Given the description of an element on the screen output the (x, y) to click on. 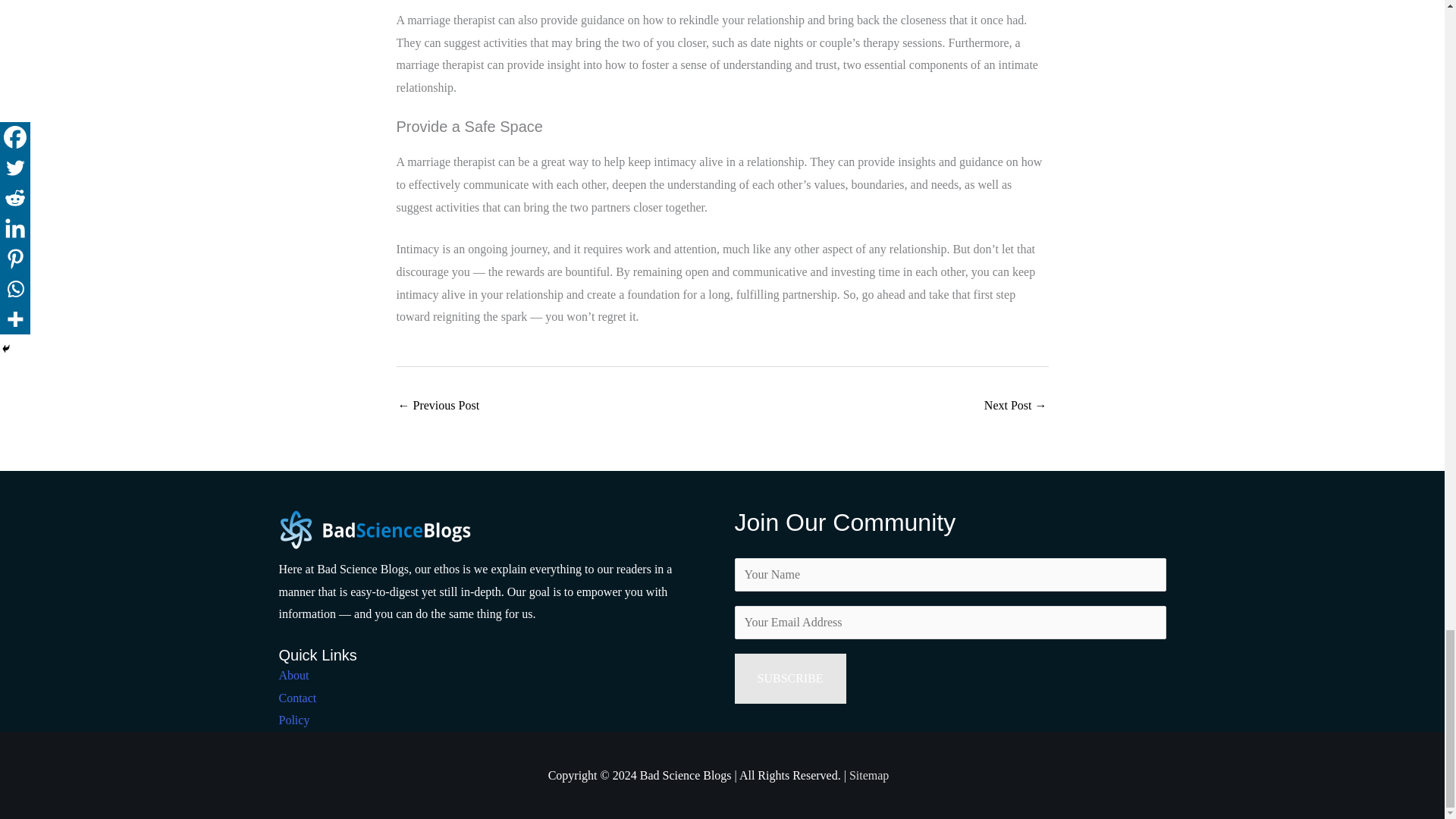
SUBSCRIBE (789, 678)
SUBSCRIBE (789, 678)
Sitemap (868, 775)
Policy (294, 719)
A Guide to Pain Management Innovations in Palliative Care (438, 406)
About (293, 675)
Contact (298, 697)
